Given the description of an element on the screen output the (x, y) to click on. 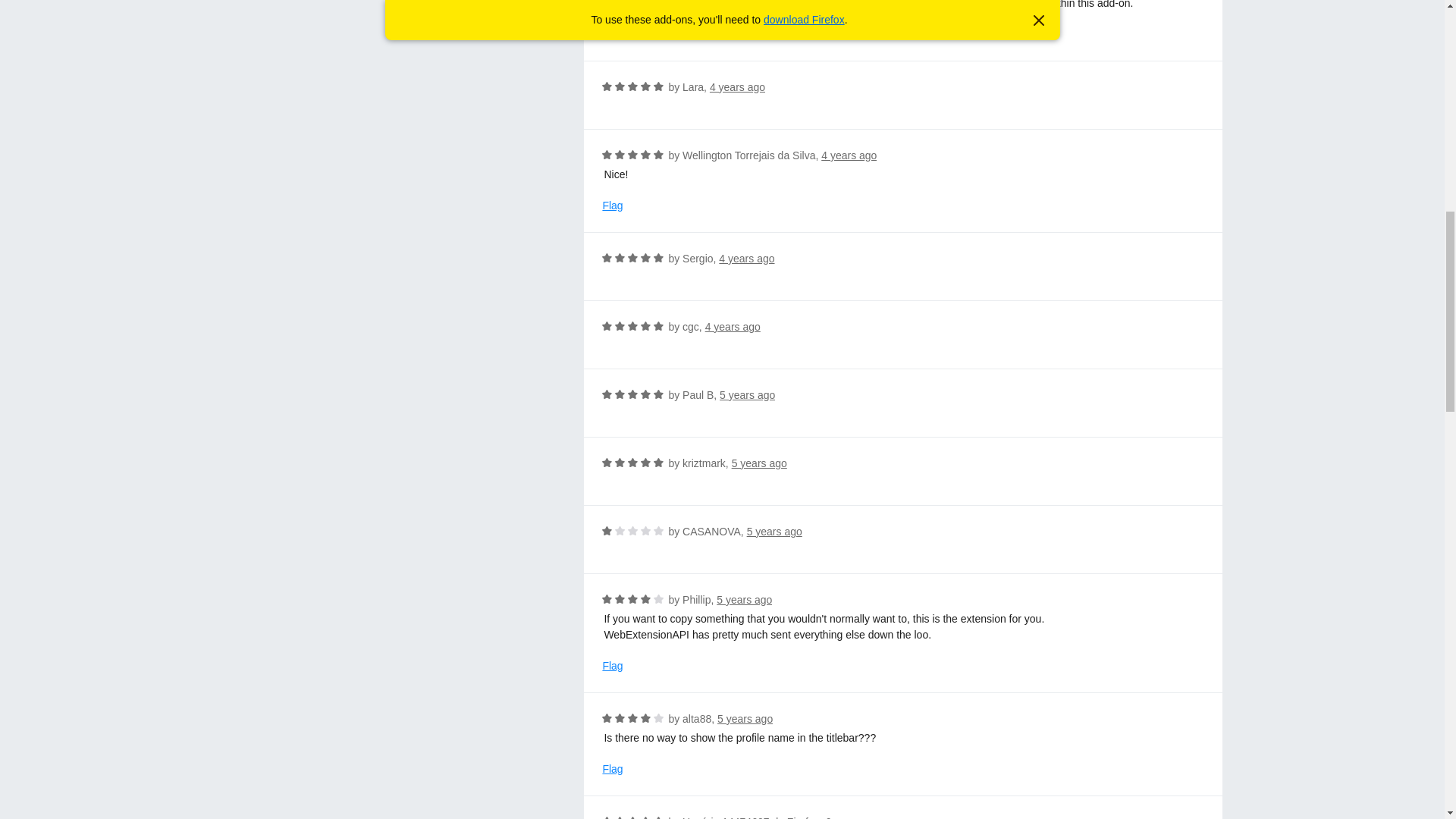
Flag (612, 34)
5 years ago (774, 531)
4 years ago (746, 258)
4 years ago (732, 326)
5 years ago (759, 463)
5 years ago (743, 599)
4 years ago (848, 155)
4 years ago (737, 87)
5 years ago (746, 395)
Flag (612, 205)
